Given the description of an element on the screen output the (x, y) to click on. 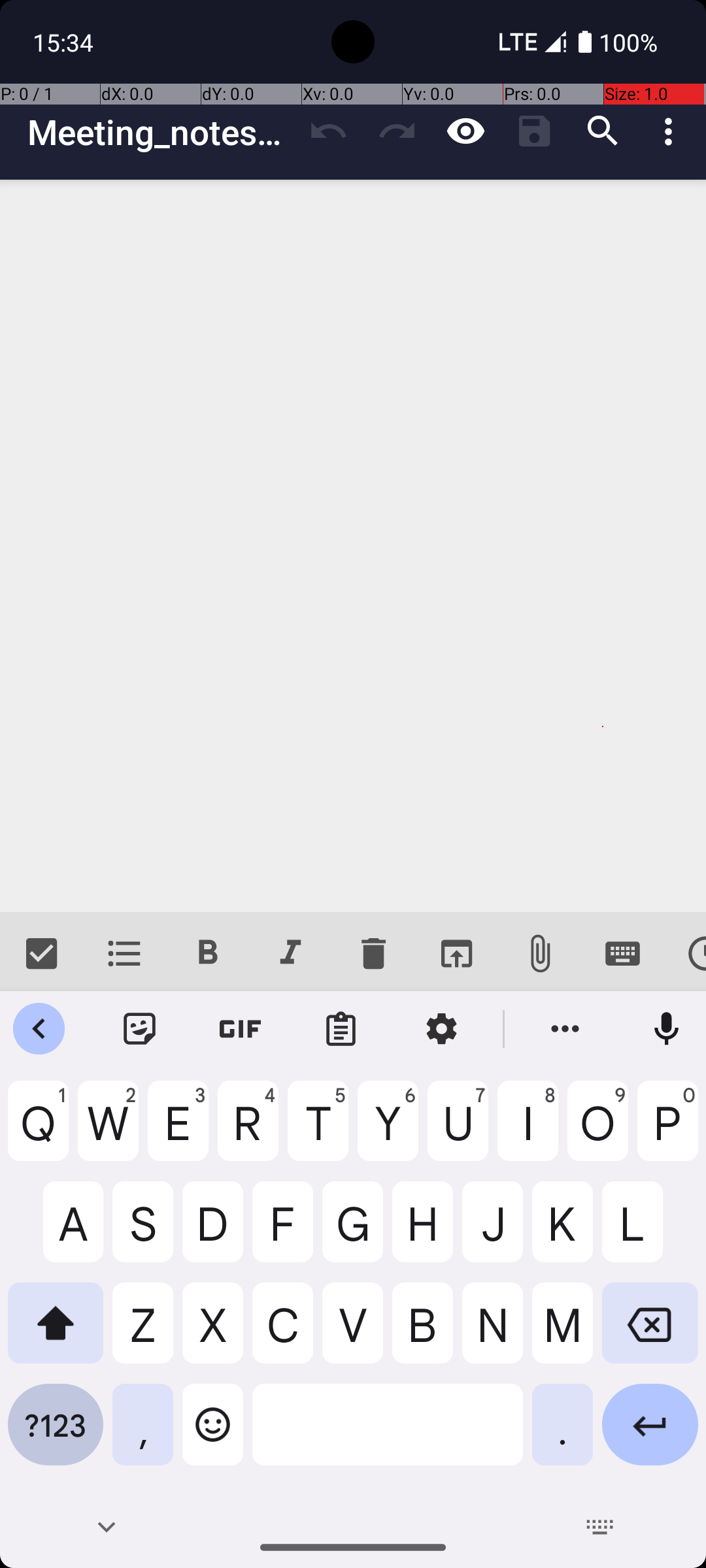
Meeting_notes_for_project_update.txt Element type: android.widget.TextView (160, 131)
